Given the description of an element on the screen output the (x, y) to click on. 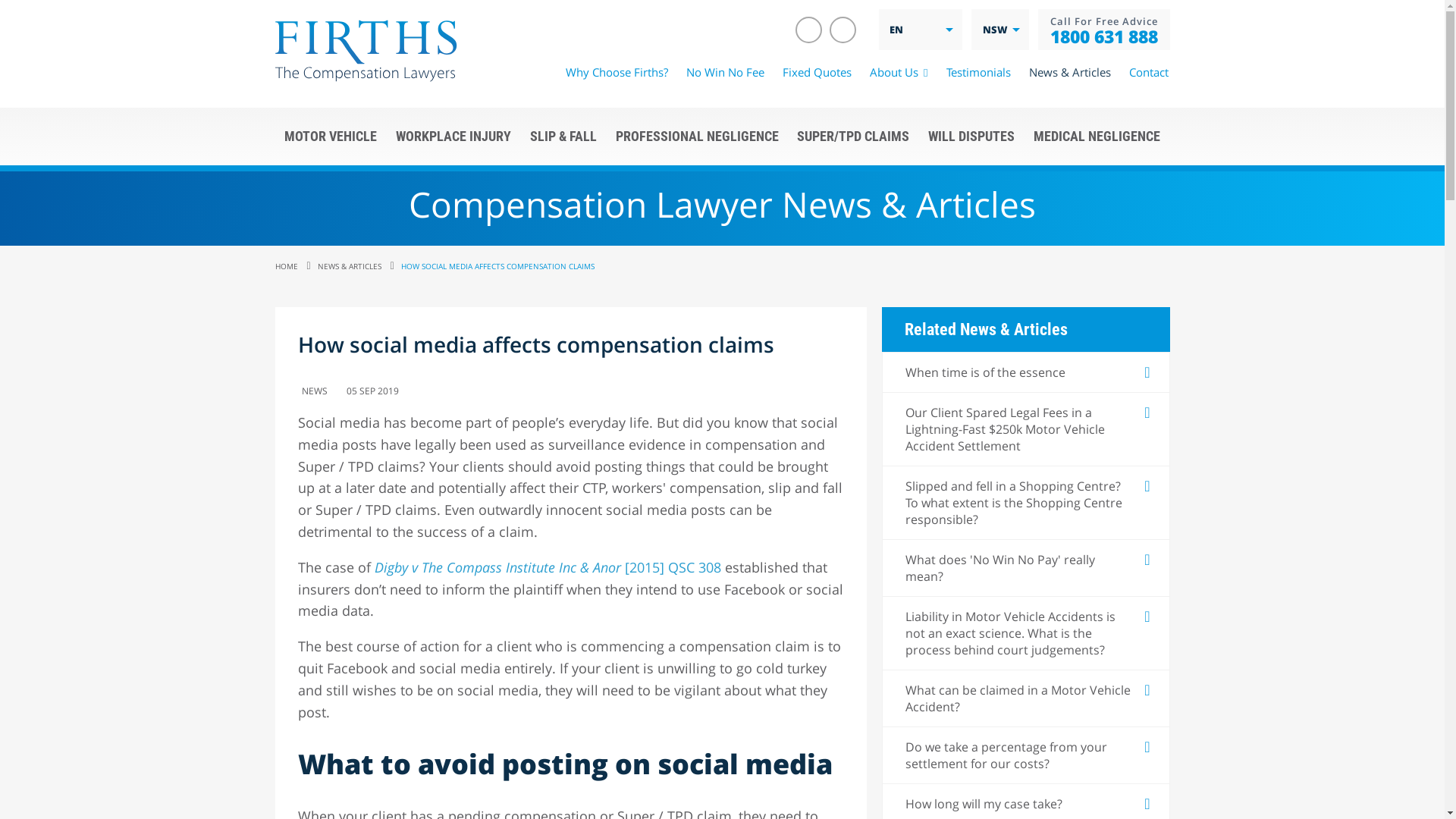
MEDICAL NEGLIGENCE Element type: text (1097, 136)
Testimonials Element type: text (978, 71)
SUPER/TPD CLAIMS Element type: text (853, 136)
News & Articles Element type: text (1068, 71)
HOW SOCIAL MEDIA AFFECTS COMPENSATION CLAIMS Element type: text (489, 265)
Call For Free Advice
1800 631 888 Element type: text (1103, 29)
Why Choose Firths? Element type: text (616, 71)
What does 'No Win No Pay' really mean? Element type: text (1025, 567)
Do we take a percentage from your settlement for our costs? Element type: text (1025, 755)
Contact Element type: text (1147, 71)
SLIP & FALL Element type: text (562, 136)
When time is of the essence Element type: text (1025, 372)
PROFESSIONAL NEGLIGENCE Element type: text (696, 136)
What can be claimed in a Motor Vehicle Accident? Element type: text (1025, 698)
NEWS & ARTICLES Element type: text (341, 265)
WILL DISPUTES Element type: text (971, 136)
No Win No Fee Element type: text (724, 71)
WORKPLACE INJURY Element type: text (452, 136)
Digby v The Compass Institute Inc & Anor [2015] QSC 308 Element type: text (547, 567)
MOTOR VEHICLE Element type: text (329, 136)
Fixed Quotes Element type: text (817, 71)
HOME Element type: text (285, 265)
About Us Element type: text (898, 71)
